Given the description of an element on the screen output the (x, y) to click on. 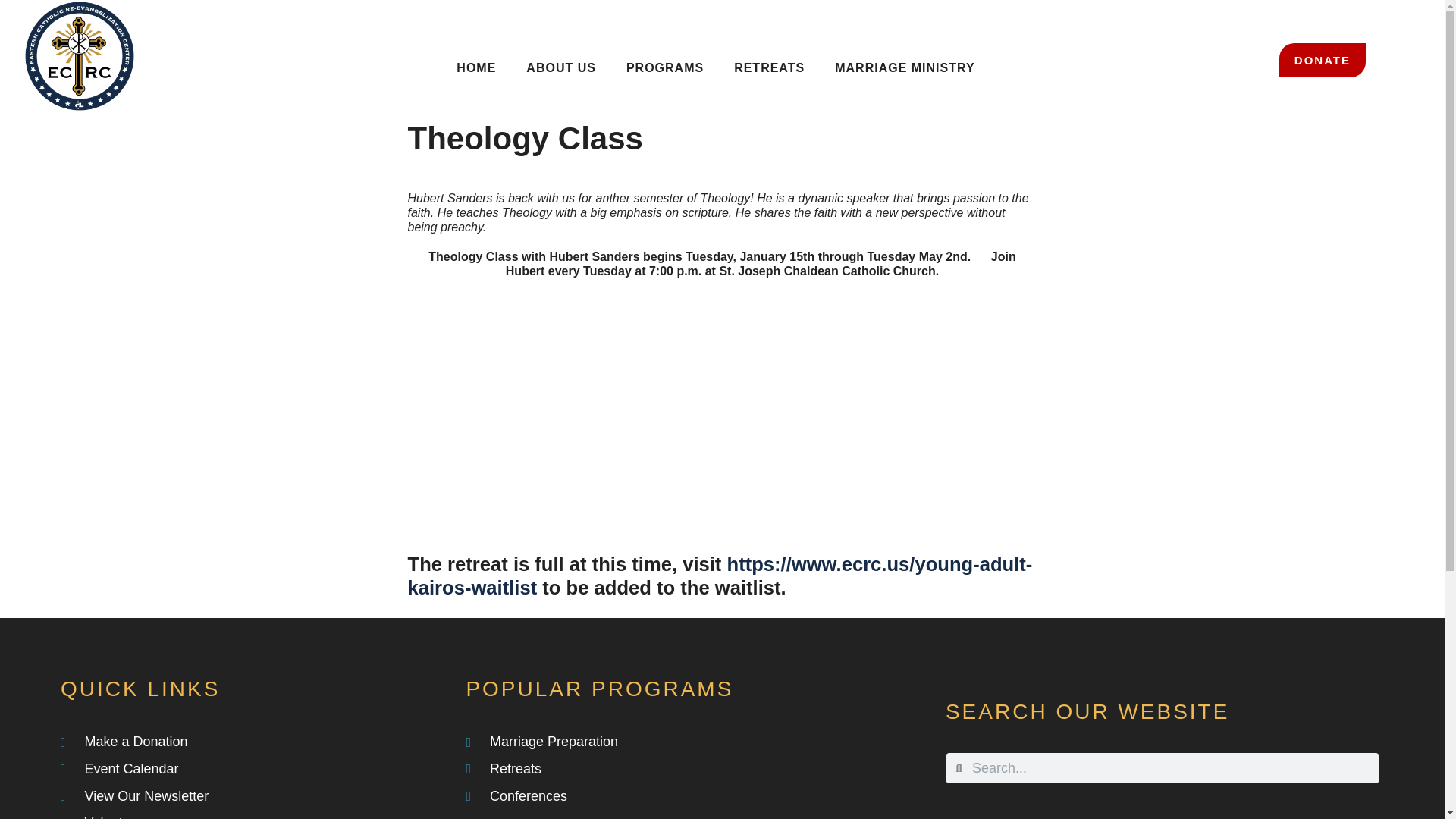
PROGRAMS (665, 67)
MARRIAGE MINISTRY (904, 67)
ABOUT US (561, 67)
DONATE (1322, 59)
RETREATS (769, 67)
HOME (476, 67)
